Given the description of an element on the screen output the (x, y) to click on. 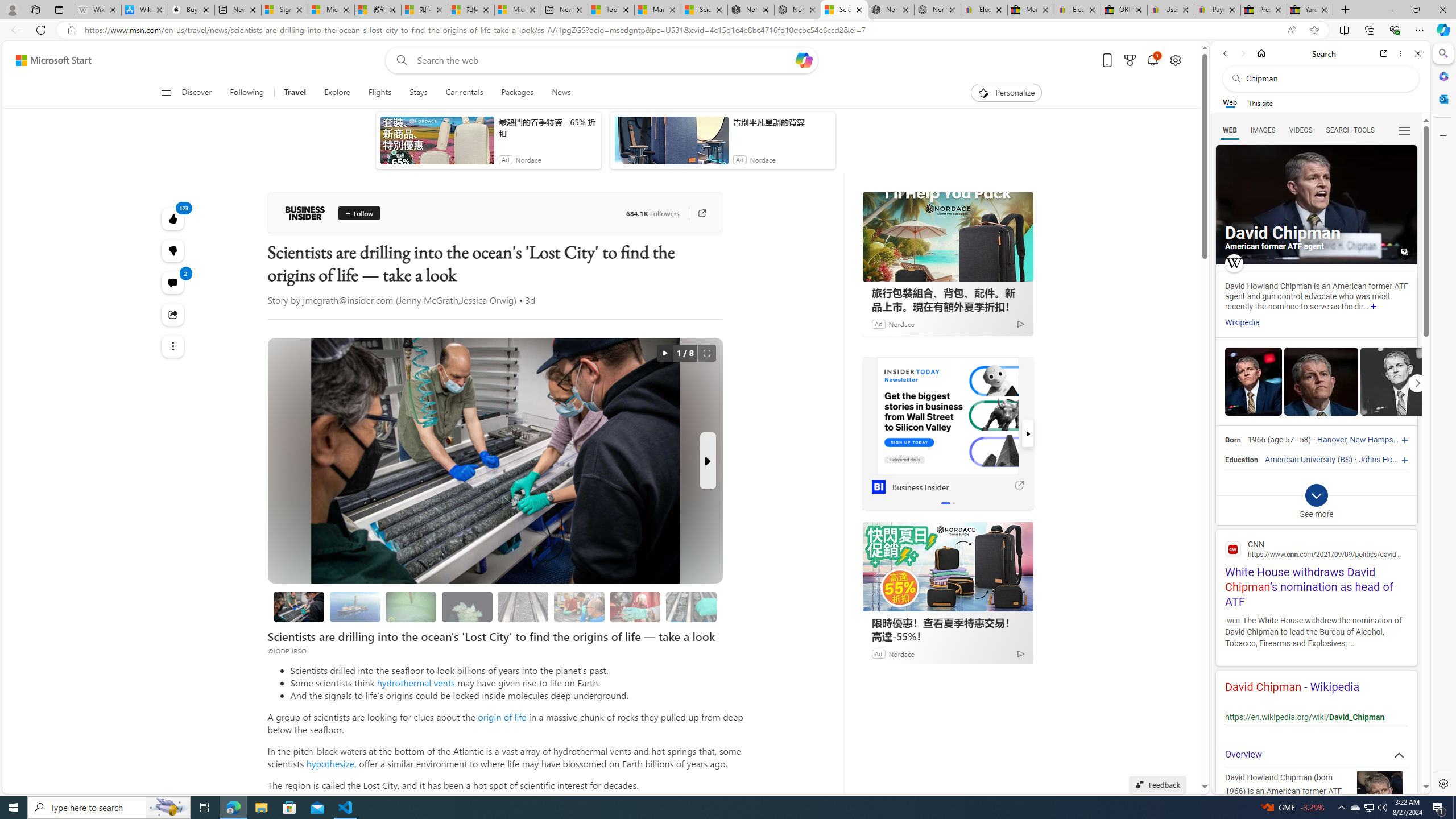
Flights (379, 92)
Class: b_exp_chevron_svg b_expmob_chev (1315, 495)
